Given the description of an element on the screen output the (x, y) to click on. 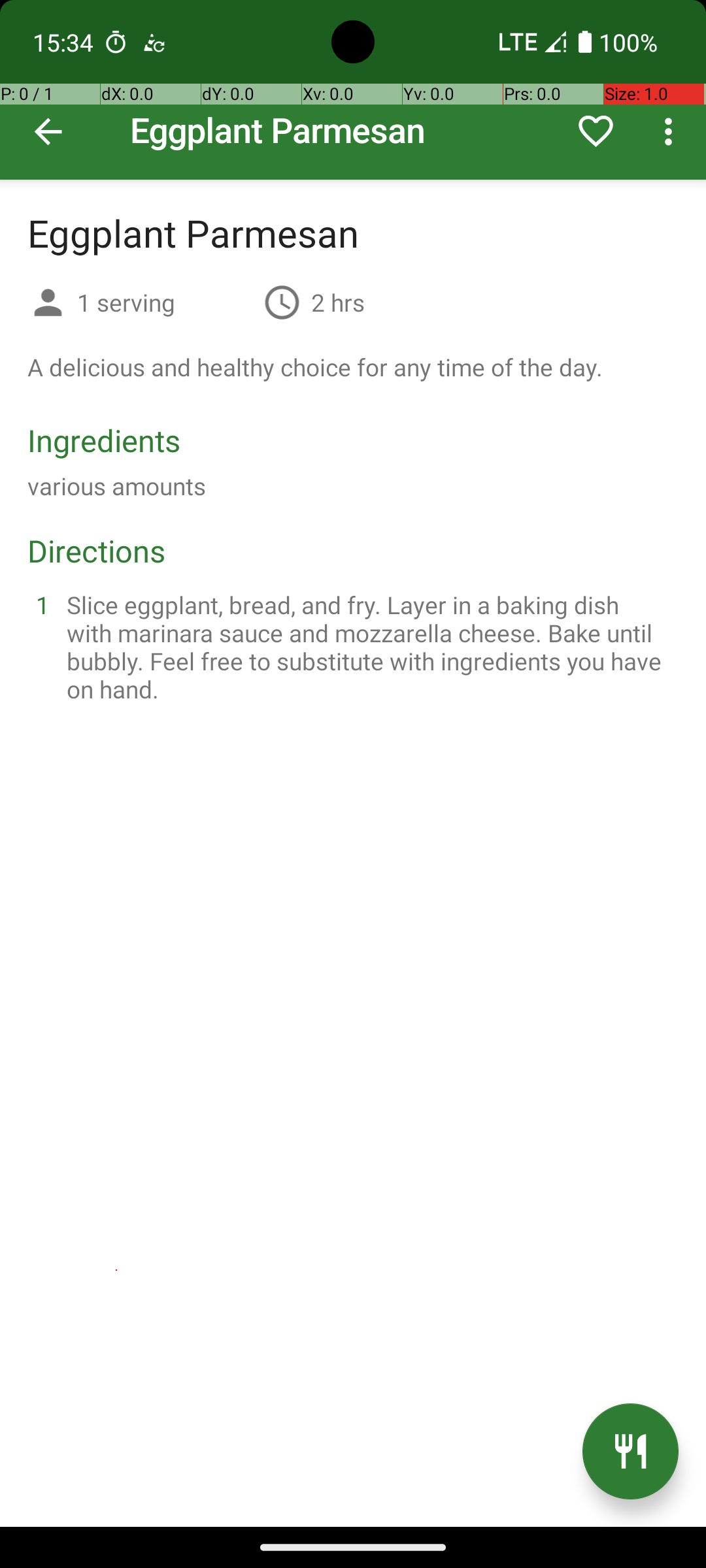
Slice eggplant, bread, and fry. Layer in a baking dish with marinara sauce and mozzarella cheese. Bake until bubbly. Feel free to substitute with ingredients you have on hand. Element type: android.widget.TextView (368, 646)
